Given the description of an element on the screen output the (x, y) to click on. 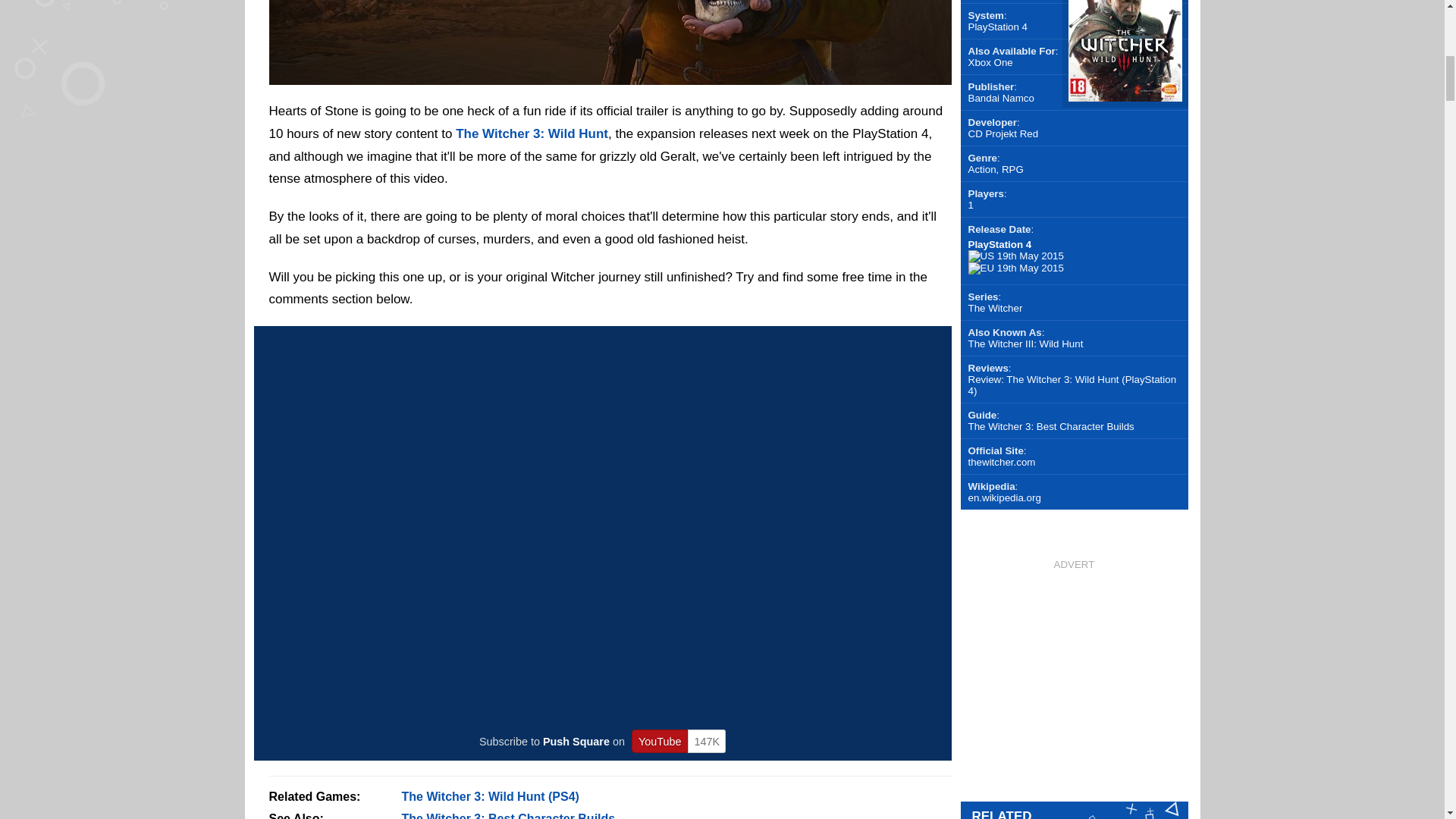
witcher 3 expansion 1.jpg (608, 74)
The Witcher 3: Best Character Builds (508, 815)
